Given the description of an element on the screen output the (x, y) to click on. 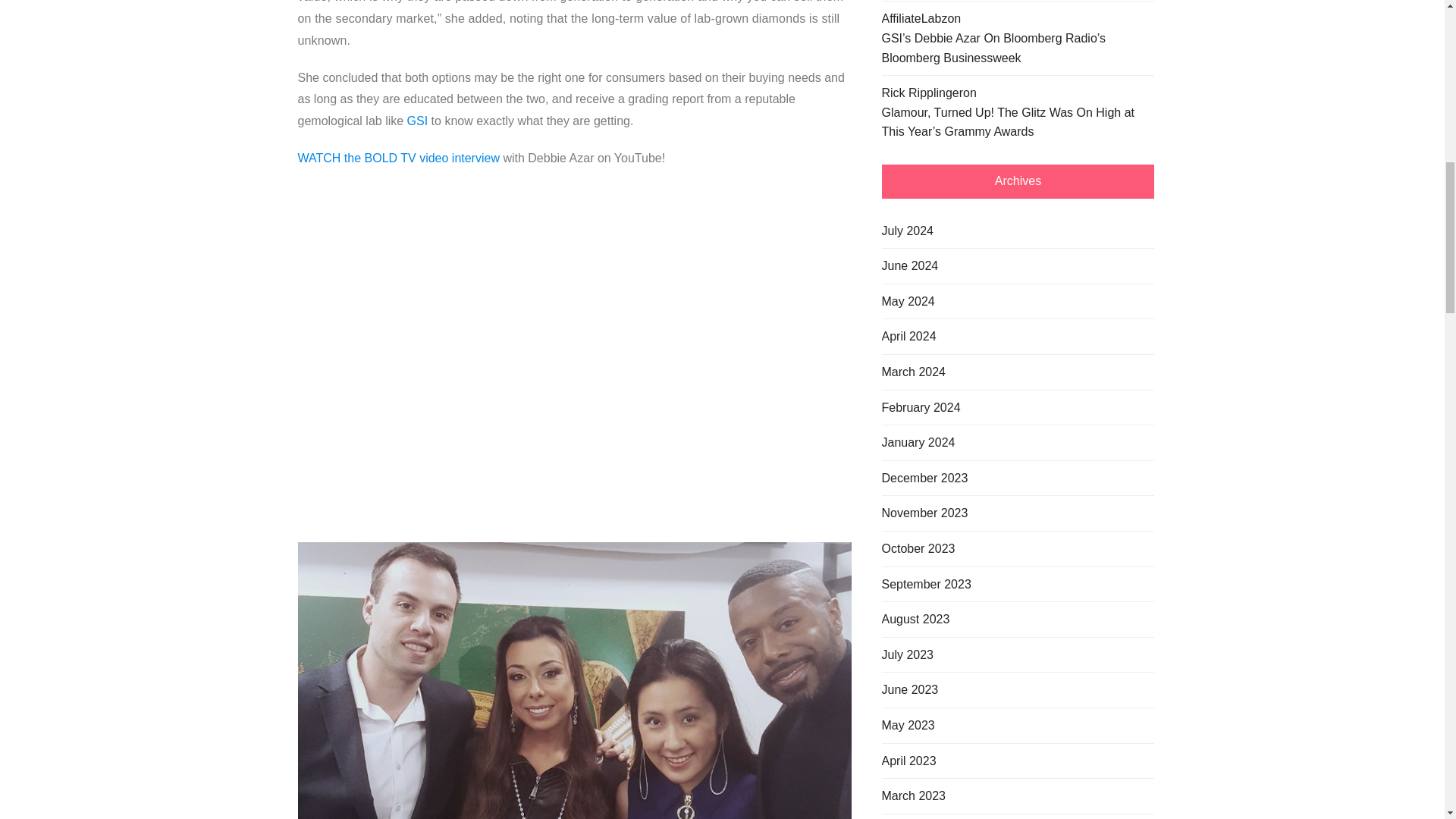
GSI (417, 120)
WATCH the BOLD TV video interview (398, 157)
